Given the description of an element on the screen output the (x, y) to click on. 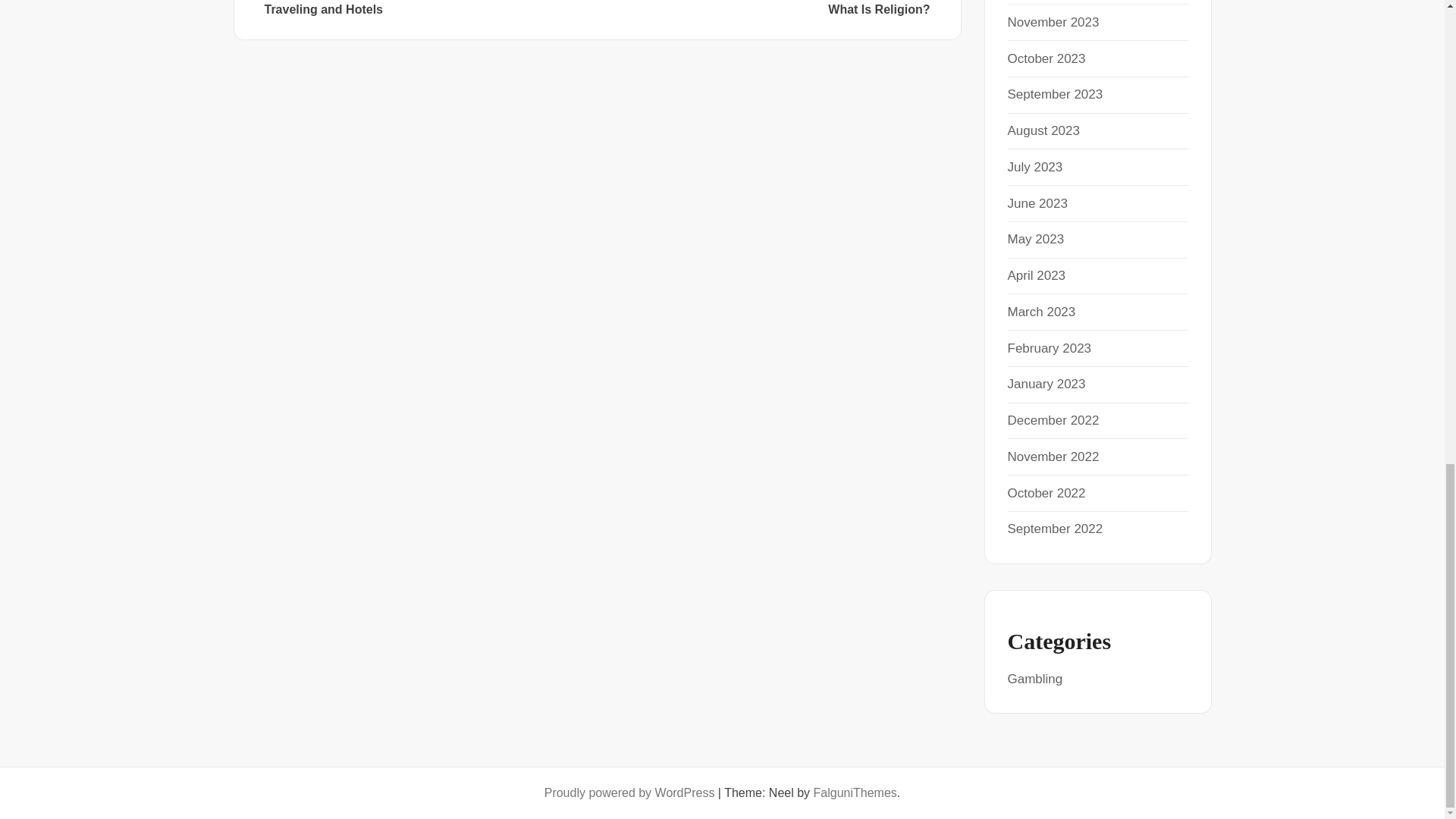
May 2023 (1035, 238)
March 2023 (1041, 311)
July 2023 (1034, 166)
November 2023 (1053, 22)
February 2023 (1048, 347)
April 2023 (1036, 275)
August 2023 (1042, 130)
June 2023 (1037, 203)
September 2023 (1054, 93)
October 2023 (1045, 57)
